Given the description of an element on the screen output the (x, y) to click on. 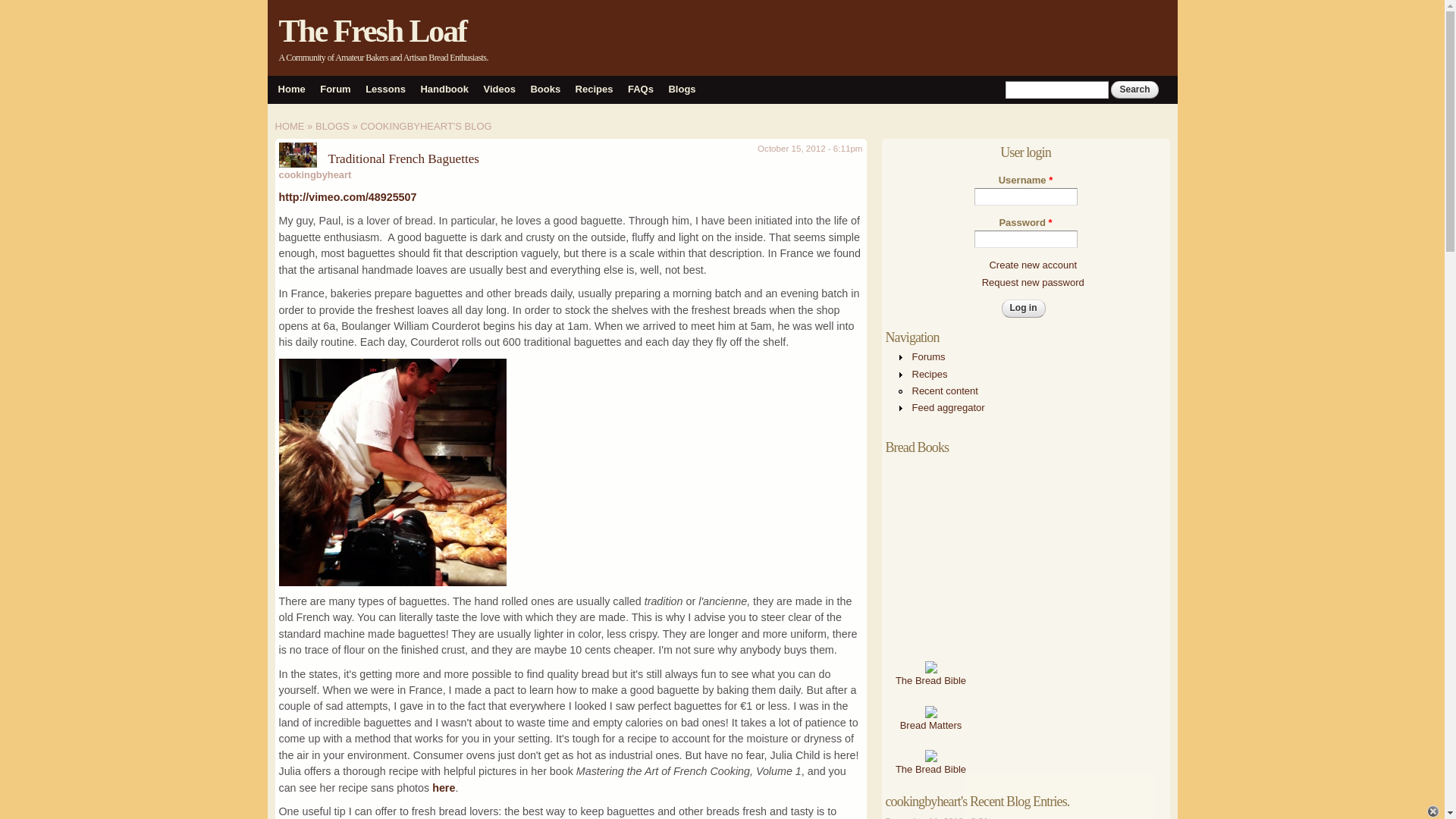
Skip to main content (693, 1)
HOME (289, 125)
Enter the terms you wish to search for. (1057, 89)
here (443, 787)
BLOGS (332, 125)
Handbook (444, 89)
Books (544, 89)
Home (291, 89)
FAQs (640, 89)
cookingbyheart's picture (298, 154)
Forum (335, 89)
Log in (1023, 307)
The Fresh Loaf (373, 30)
Home (373, 30)
Recipes (593, 89)
